Given the description of an element on the screen output the (x, y) to click on. 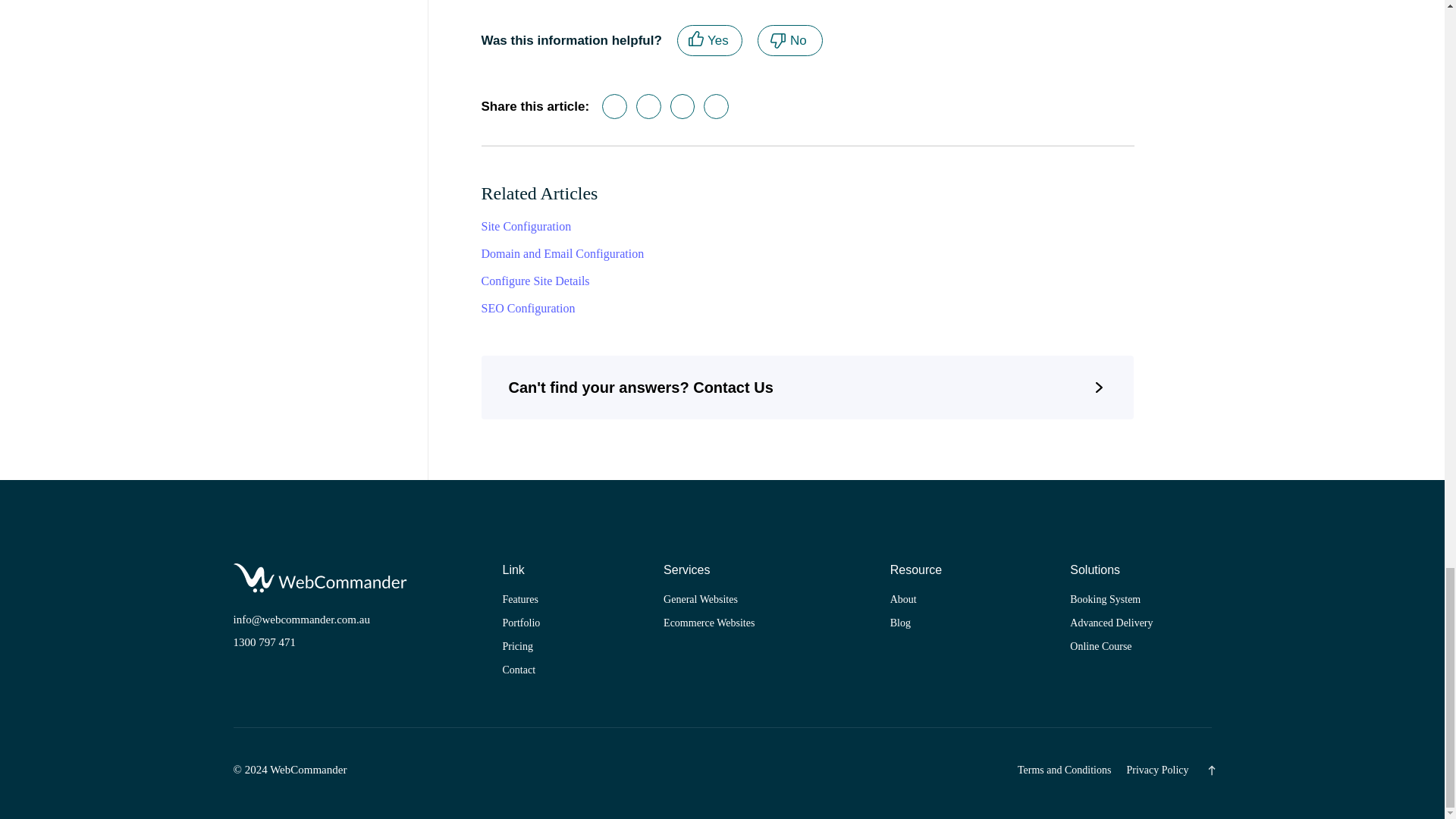
SEO Configuration (716, 106)
